Given the description of an element on the screen output the (x, y) to click on. 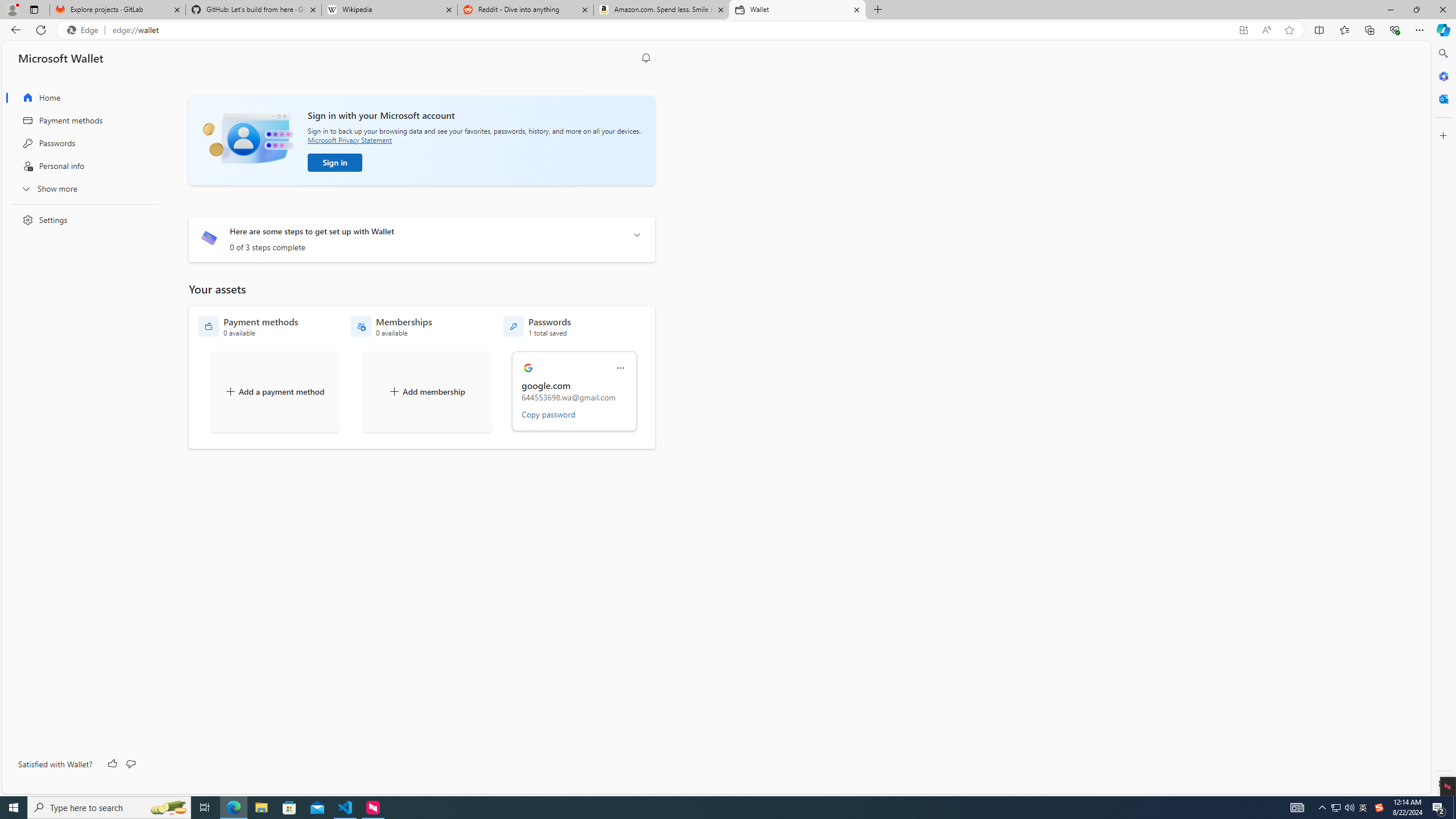
App bar (728, 29)
Side bar (1443, 418)
Dislike (129, 764)
Add membership (427, 391)
Wallet (797, 9)
